Given the description of an element on the screen output the (x, y) to click on. 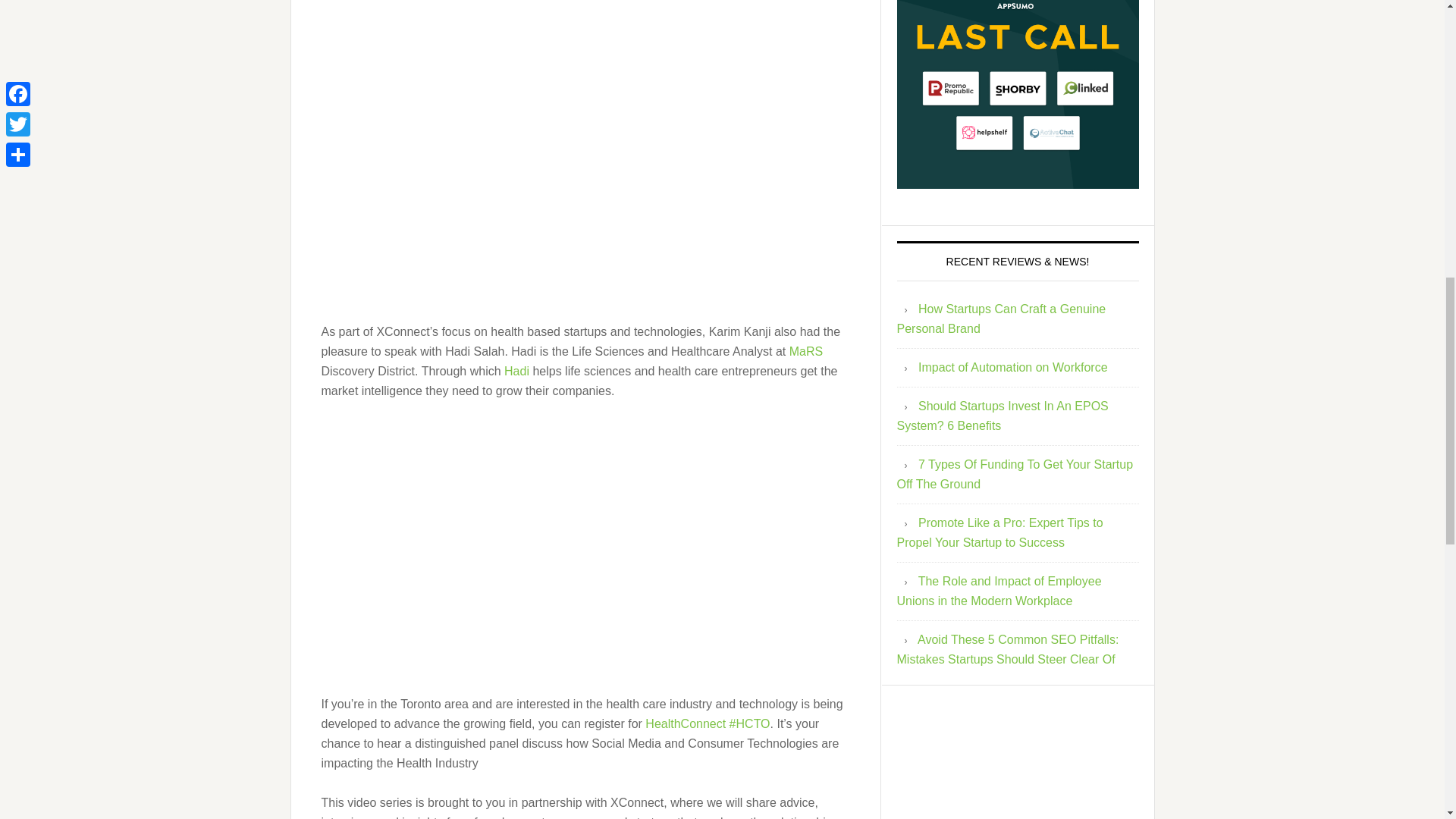
MaRS (805, 350)
Impact of Automation on Workforce (1013, 367)
How Startups Can Craft a Genuine Personal Brand (1000, 318)
Should Startups Invest In An EPOS System? 6 Benefits (1002, 415)
Hadi (516, 369)
7 Types Of Funding To Get Your Startup Off The Ground (1014, 473)
